Given the description of an element on the screen output the (x, y) to click on. 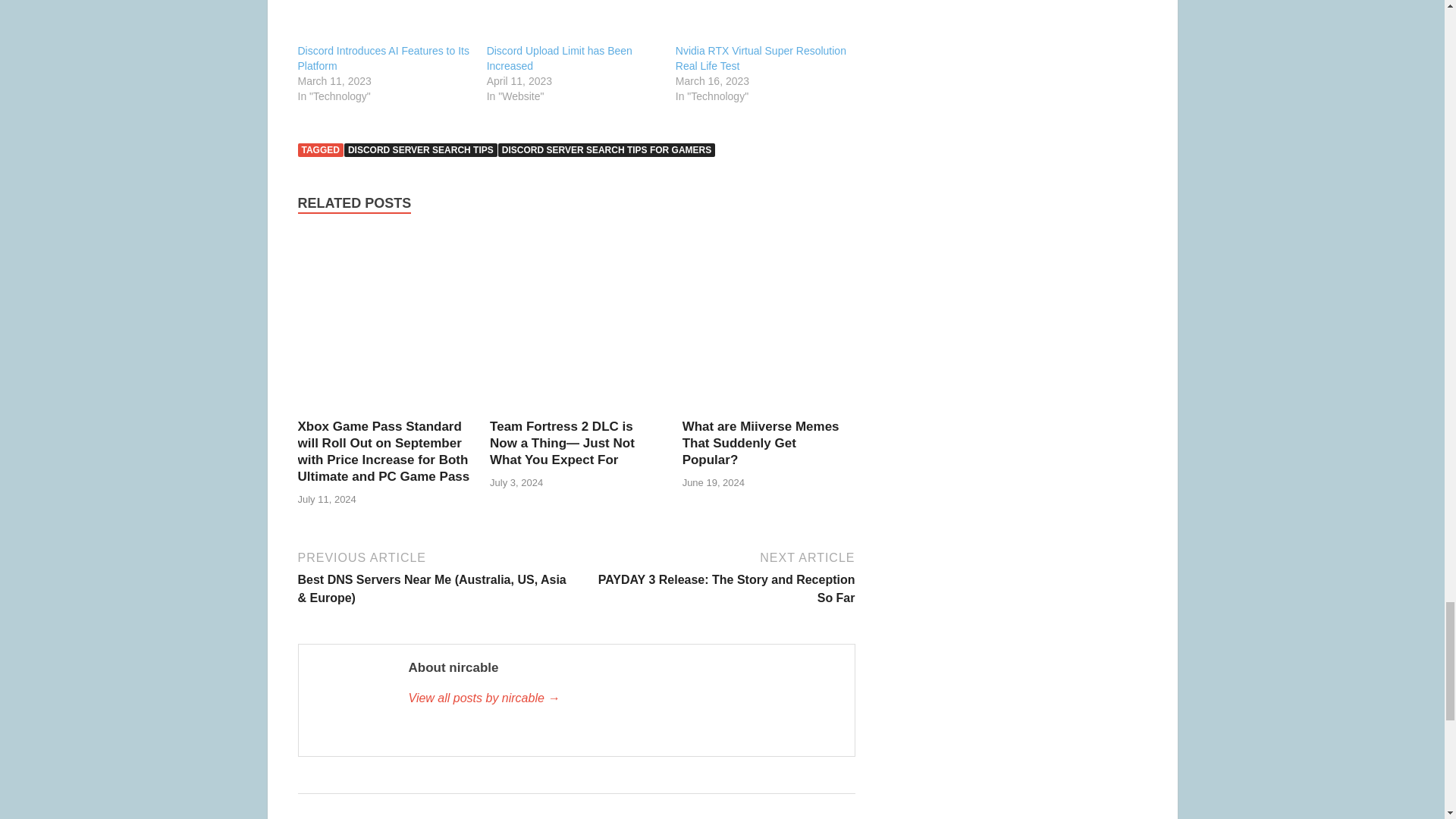
Discord Introduces AI Features to Its Platform (382, 58)
Discord Upload Limit has Been Increased (558, 58)
Discord Upload Limit has Been Increased (573, 21)
What are Miiverse Memes That Suddenly Get Popular? (769, 408)
Nvidia RTX Virtual Super Resolution Real Life Test (760, 58)
Discord Introduces AI Features to Its Platform (383, 21)
Nvidia RTX Virtual Super Resolution Real Life Test (761, 21)
